Given the description of an element on the screen output the (x, y) to click on. 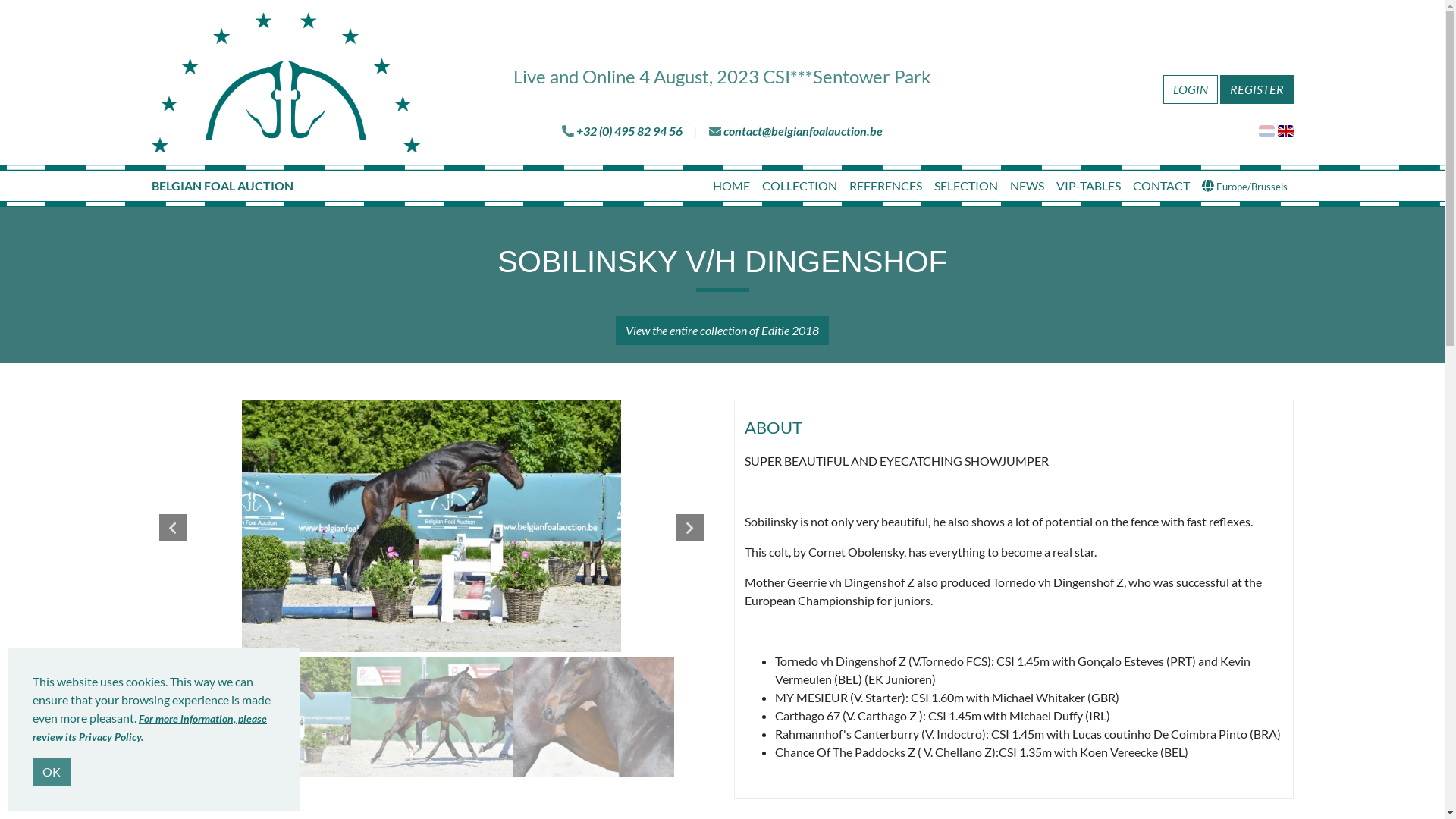
NEWS Element type: text (1027, 185)
Next Element type: text (689, 527)
CONTACT Element type: text (1160, 185)
+32 (0) 495 82 94 56 Element type: text (629, 130)
BELGIAN FOAL AUCTION Element type: text (222, 185)
VIP-TABLES Element type: text (1087, 185)
SELECTION Element type: text (966, 185)
contact@belgianfoalauction.be Element type: text (802, 130)
LOGIN Element type: text (1190, 89)
HOME Element type: text (731, 185)
OK Element type: text (51, 771)
COLLECTION Element type: text (798, 185)
Europe/Brussels Element type: text (1243, 185)
Previous Element type: text (172, 527)
REGISTER Element type: text (1255, 89)
REFERENCES Element type: text (885, 185)
For more information, please review its Privacy Policy. Element type: text (149, 727)
View the entire collection of Editie 2018 Element type: text (721, 330)
